Given the description of an element on the screen output the (x, y) to click on. 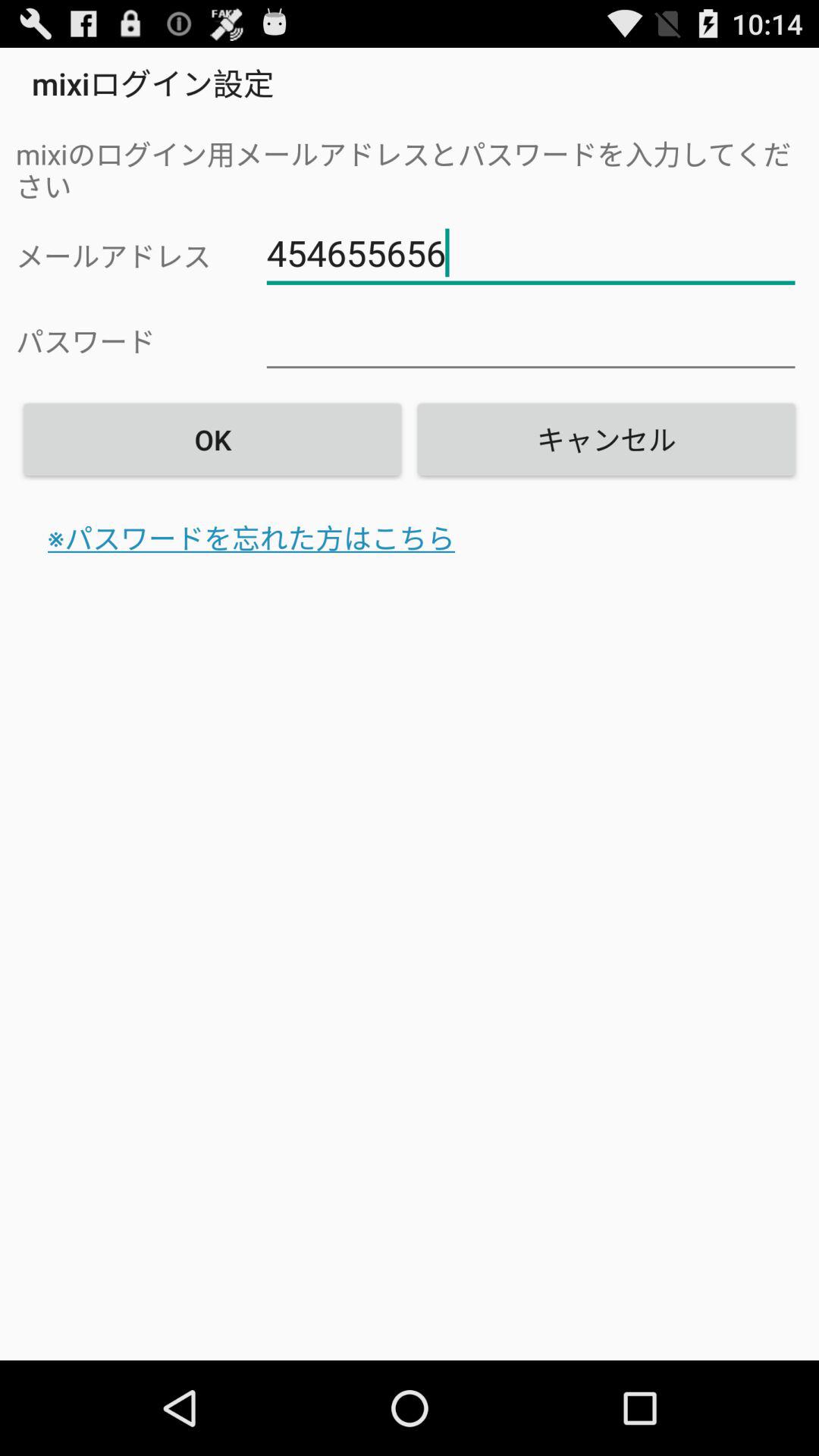
turn off the item above ok item (530, 253)
